Given the description of an element on the screen output the (x, y) to click on. 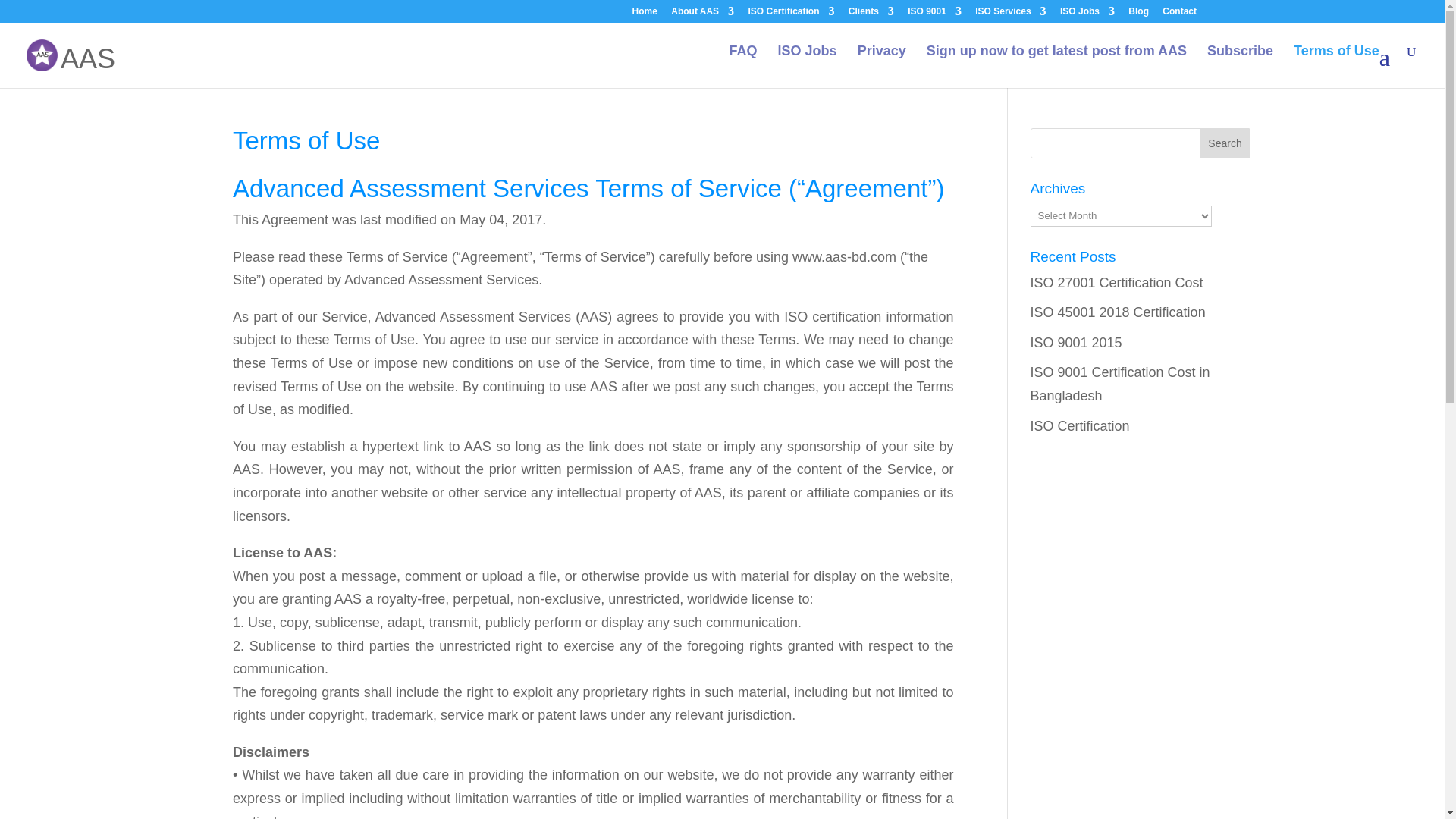
ISO Jobs (807, 61)
ISO Services (1010, 14)
About AAS (702, 14)
Clients (870, 14)
ISO Certification (791, 14)
ISO 9001 (933, 14)
Contact (1178, 14)
Home (644, 14)
ISO Jobs (1087, 14)
Blog (1138, 14)
